Given the description of an element on the screen output the (x, y) to click on. 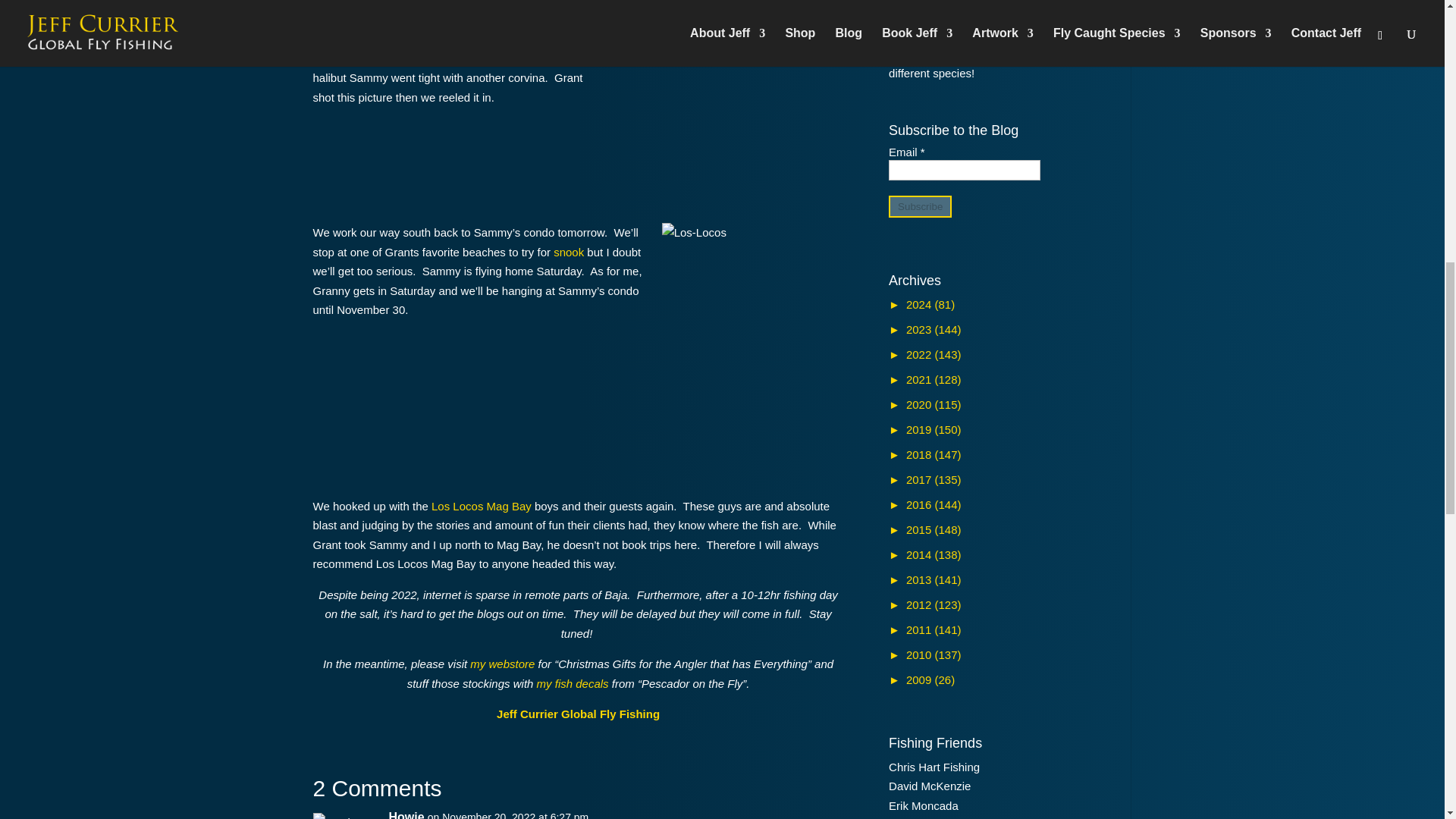
Email (964, 169)
2024 (921, 304)
Subscribe (920, 206)
